Given the description of an element on the screen output the (x, y) to click on. 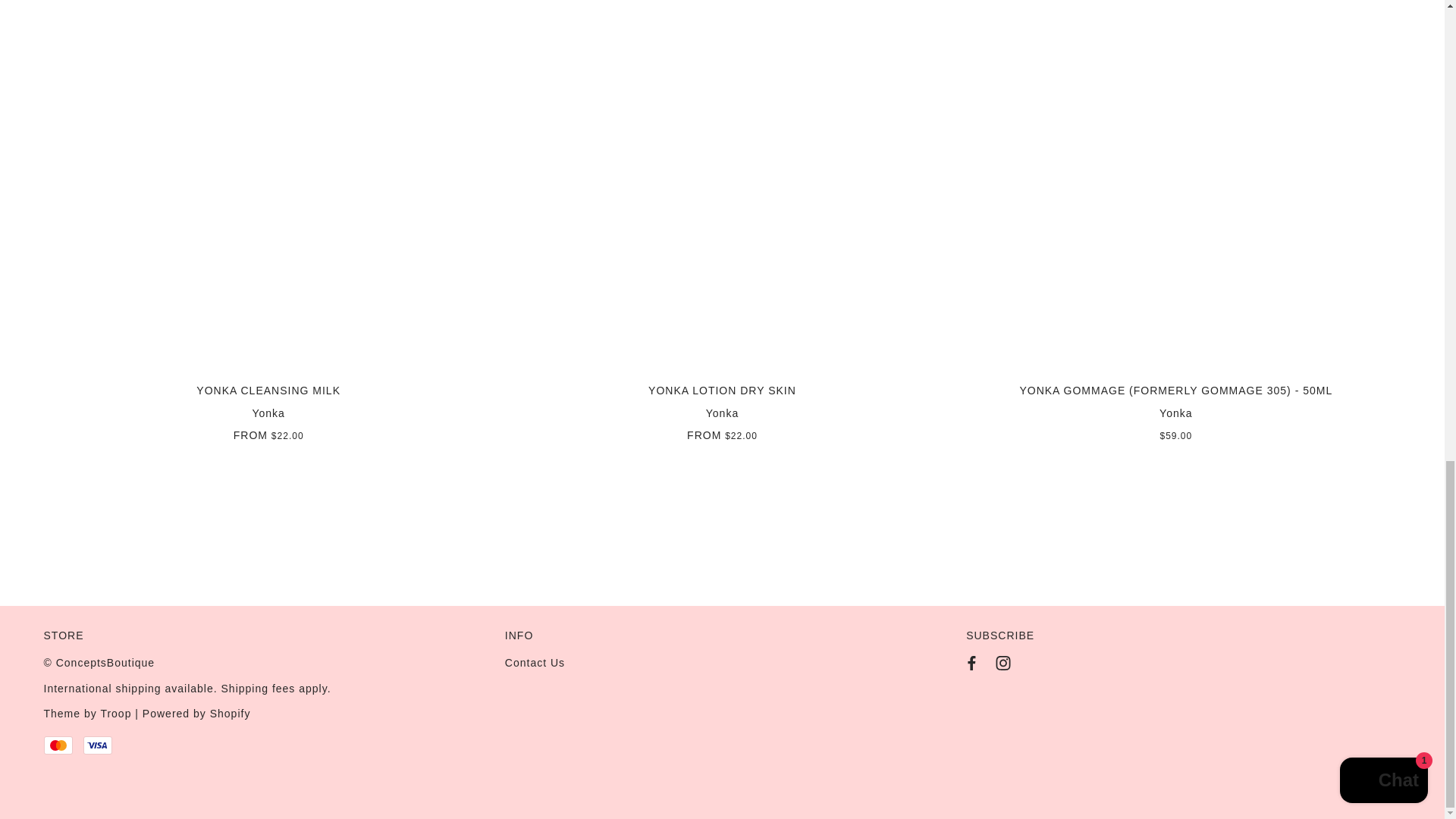
Visa (97, 745)
Mastercard (57, 745)
Contact Us (534, 662)
